Given the description of an element on the screen output the (x, y) to click on. 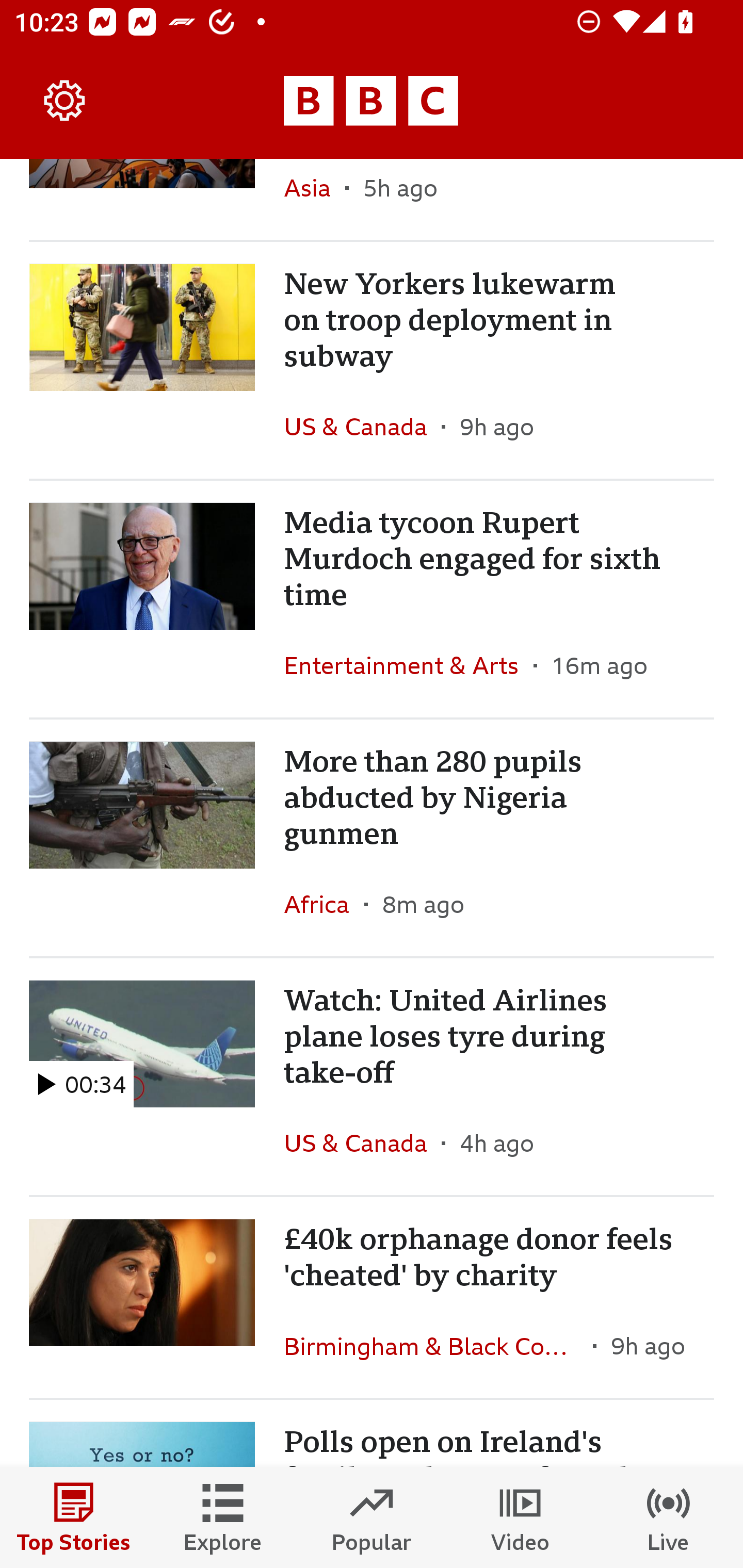
Settings (64, 100)
Asia In the section Asia (314, 198)
US & Canada In the section US & Canada (362, 426)
Africa In the section Africa (323, 903)
US & Canada In the section US & Canada (362, 1142)
Explore (222, 1517)
Popular (371, 1517)
Video (519, 1517)
Live (668, 1517)
